Given the description of an element on the screen output the (x, y) to click on. 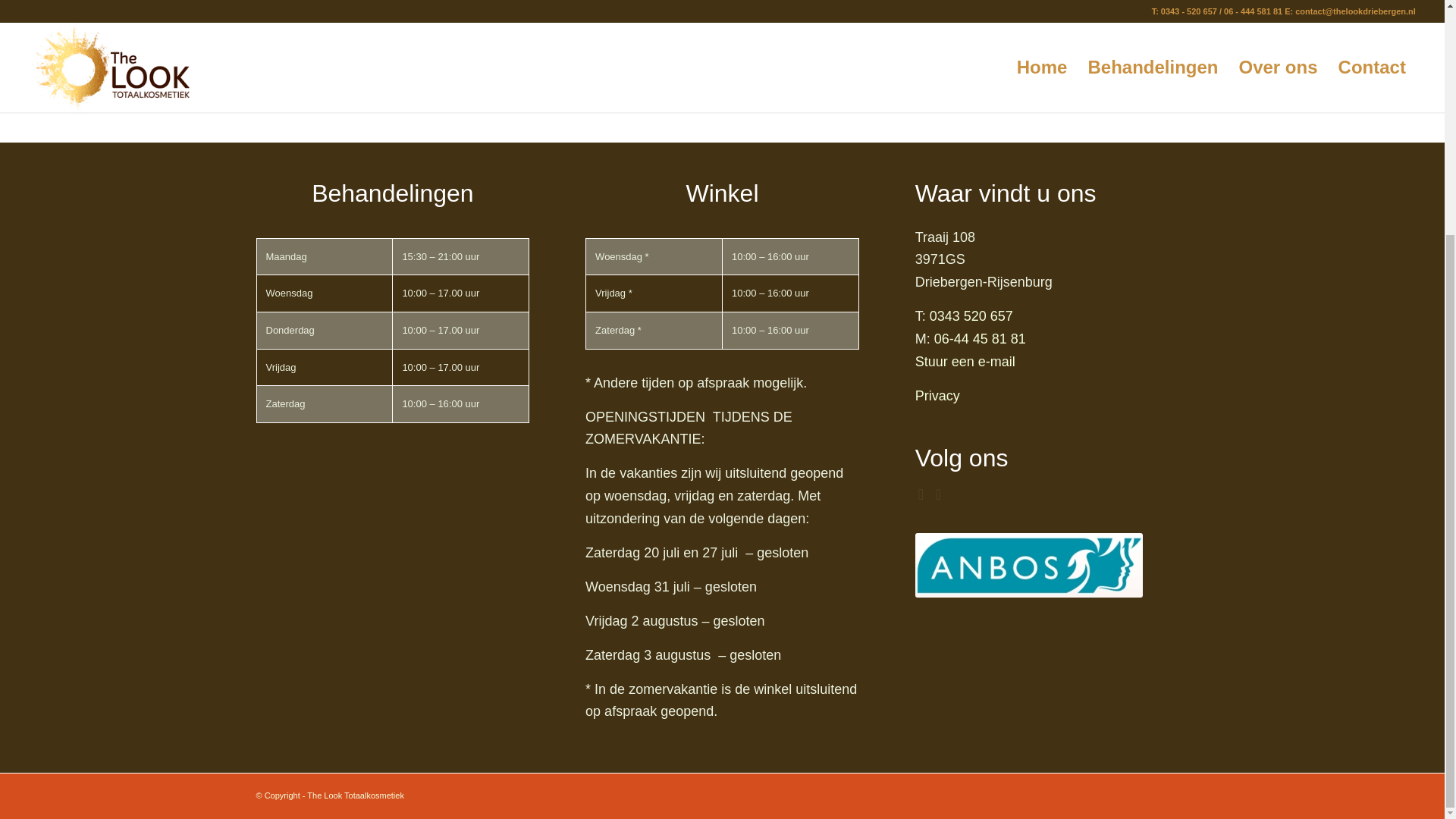
06-44 45 81 81 (980, 338)
Stuur een e-mail (964, 361)
anbos-logo-1030x291 (1028, 565)
Privacy (937, 395)
0343 520 657 (971, 315)
